Given the description of an element on the screen output the (x, y) to click on. 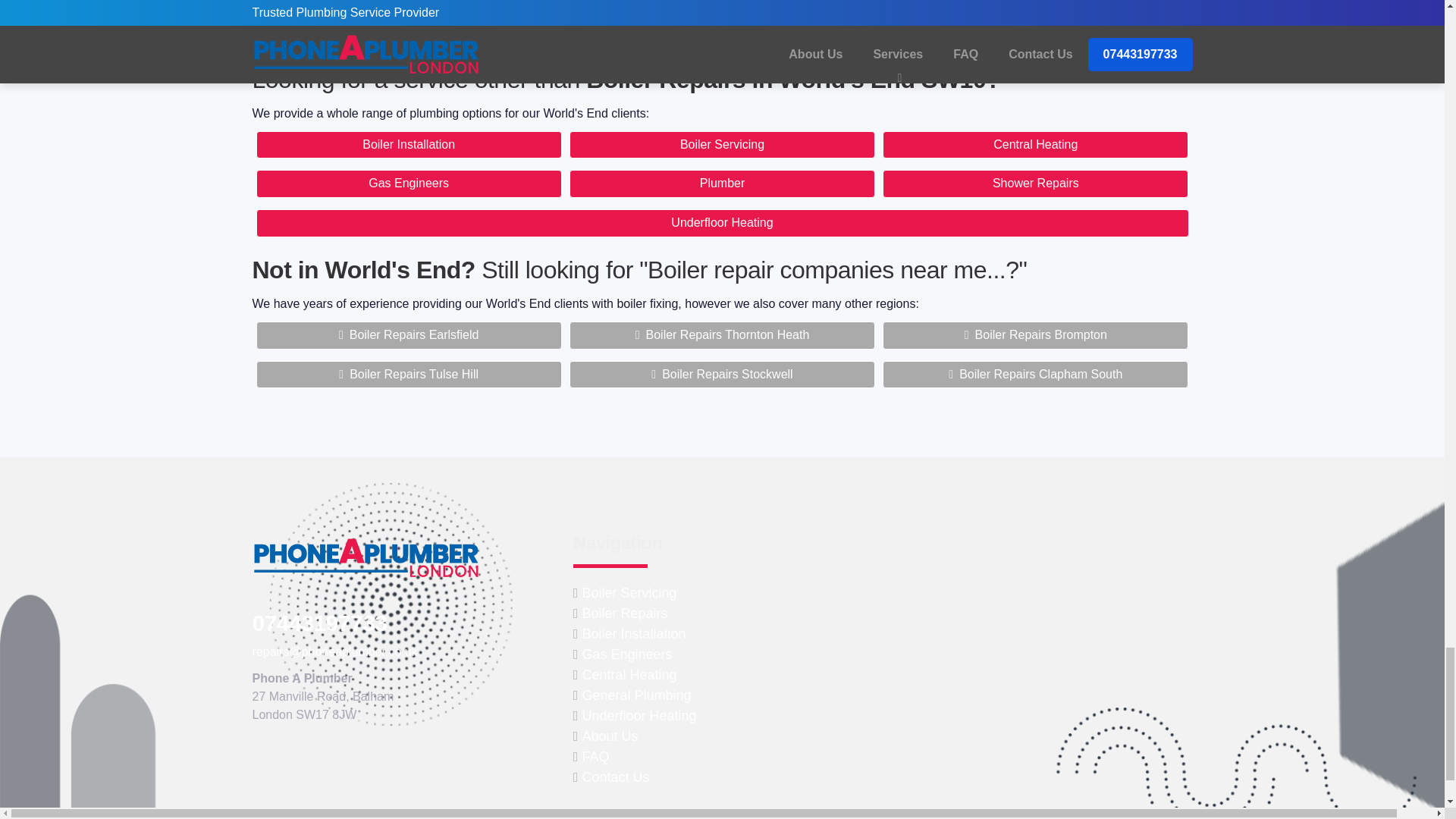
Boiler Servicing (722, 144)
Central Heating (1035, 144)
Boiler Installation (409, 144)
Gas Engineers (409, 183)
